Given the description of an element on the screen output the (x, y) to click on. 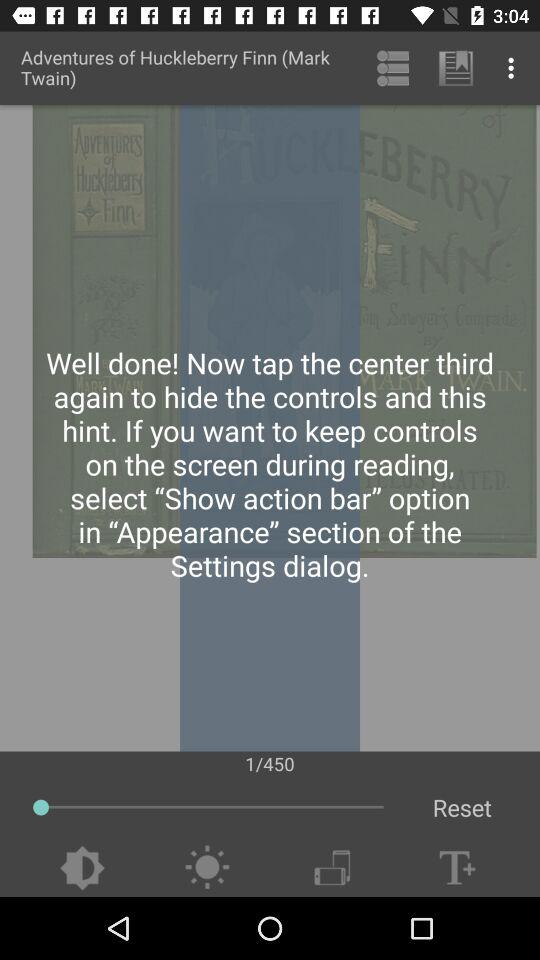
menu (331, 867)
